Given the description of an element on the screen output the (x, y) to click on. 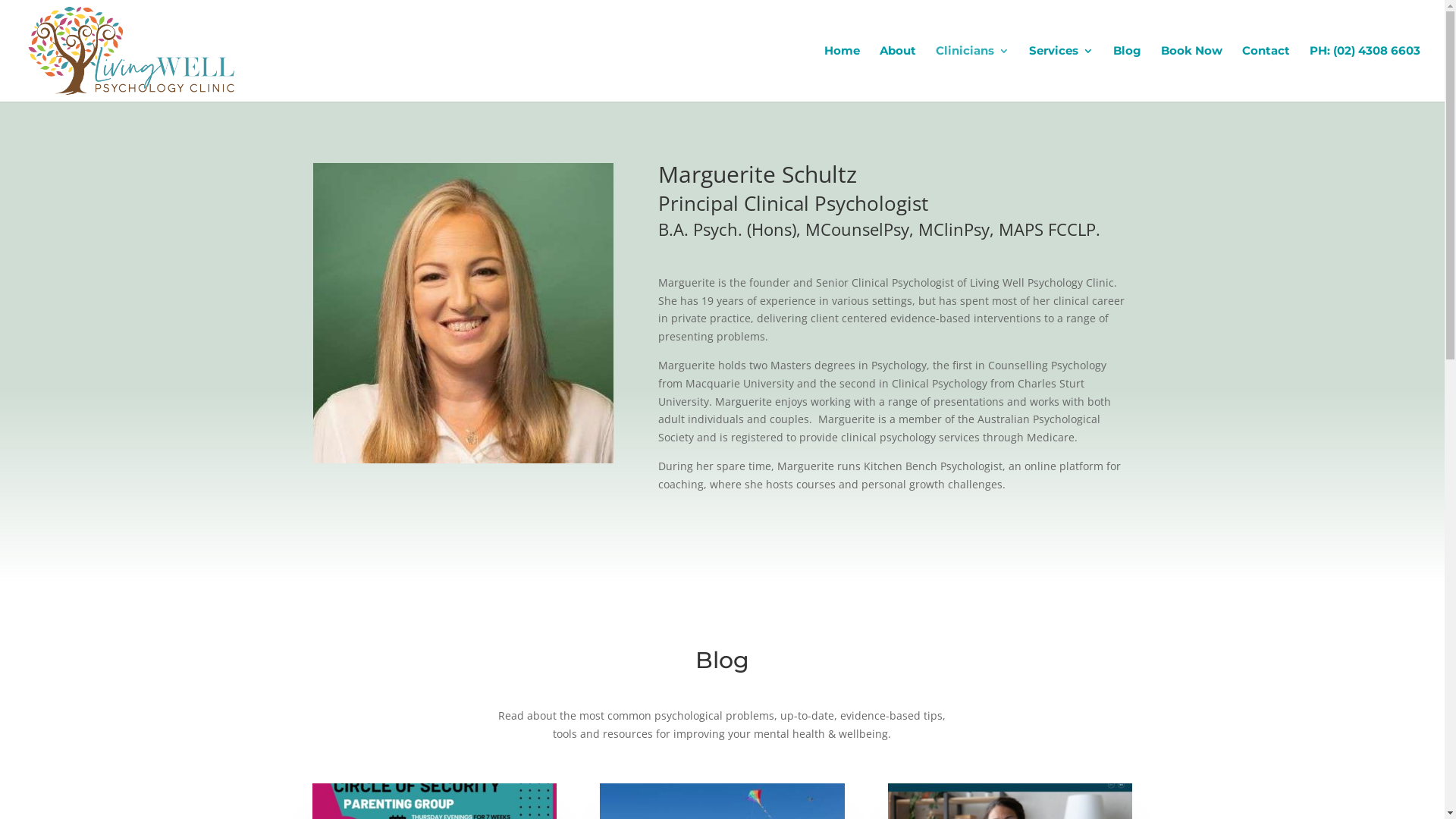
Clinicians Element type: text (972, 73)
Contact Element type: text (1265, 73)
About Element type: text (897, 73)
Services Element type: text (1061, 73)
Book Now Element type: text (1191, 73)
Blog Element type: text (1127, 73)
Home Element type: text (841, 73)
PH: (02) 4308 6603 Element type: text (1364, 73)
